Given the description of an element on the screen output the (x, y) to click on. 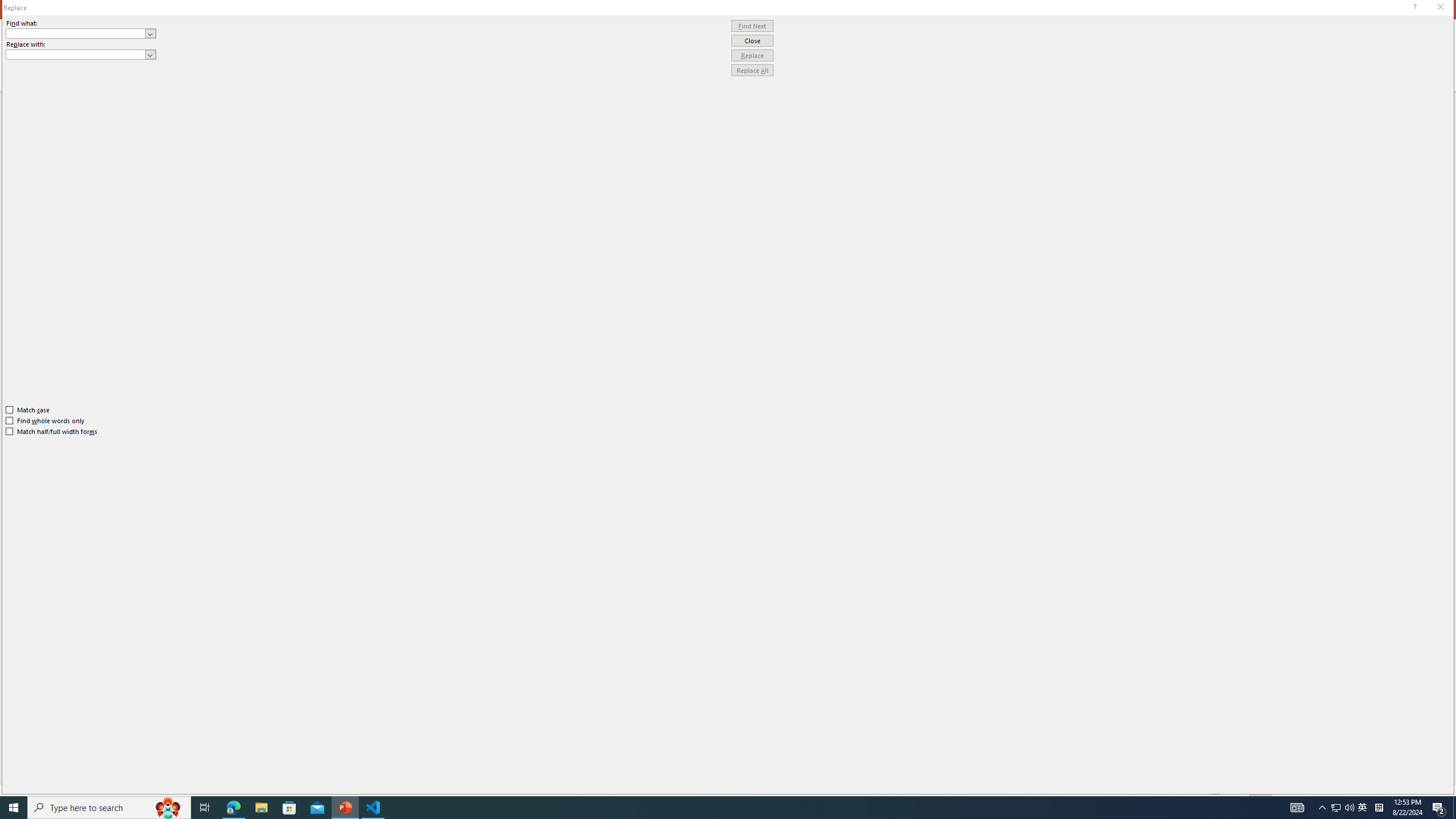
Find what (80, 33)
Match case (27, 409)
